Given the description of an element on the screen output the (x, y) to click on. 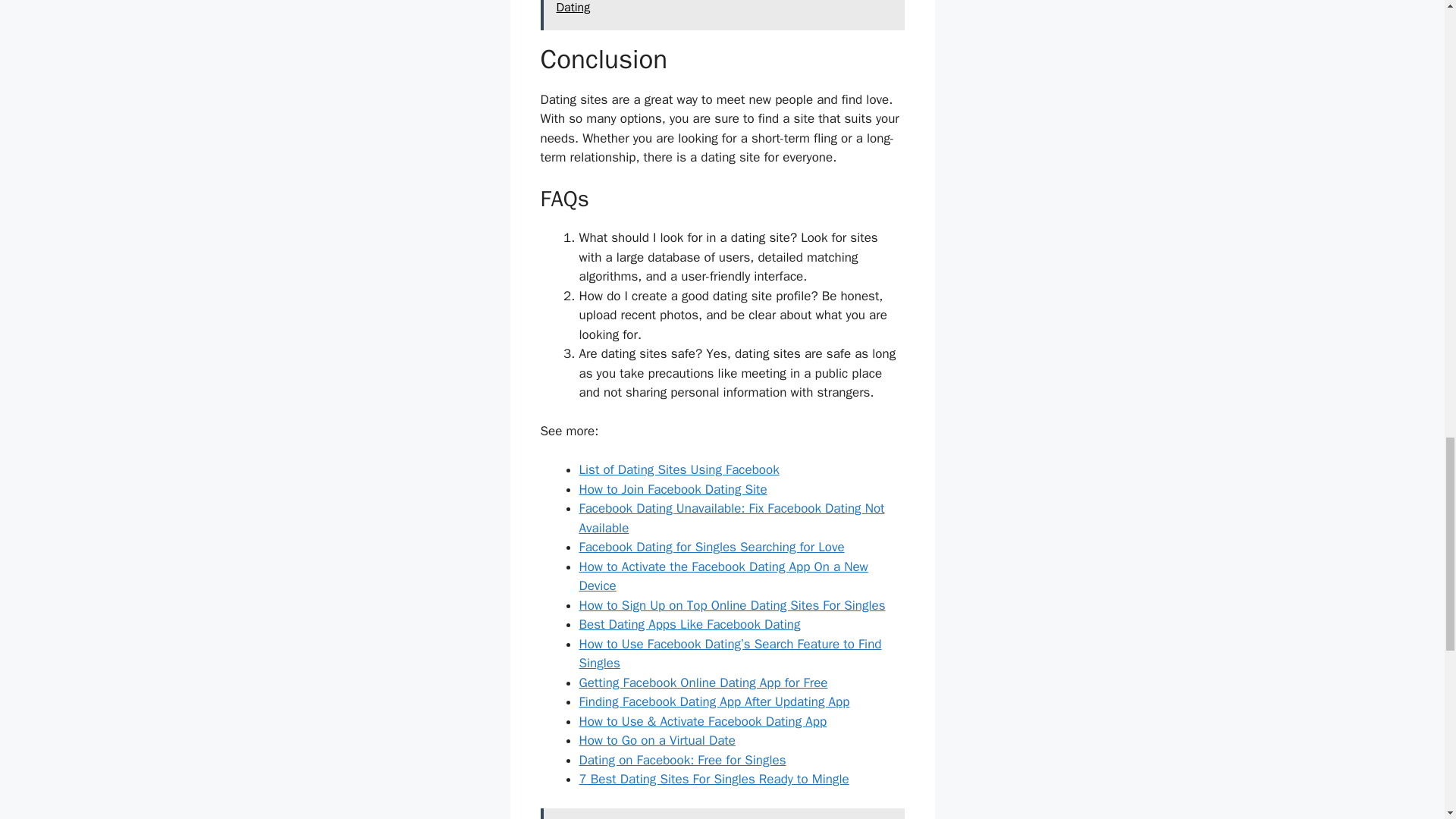
Facebook Dating for Singles Searching for Love (711, 546)
How to Go on a Virtual Date (657, 740)
How to Join Facebook Dating Site (673, 489)
Finding Facebook Dating App After Updating App (714, 701)
7 Best Dating Sites For Singles Ready to Mingle (713, 779)
List of Dating Sites Using Facebook (678, 469)
Best Dating Apps Like Facebook Dating (689, 624)
How to Activate the Facebook Dating App On a New Device (723, 576)
